Given the description of an element on the screen output the (x, y) to click on. 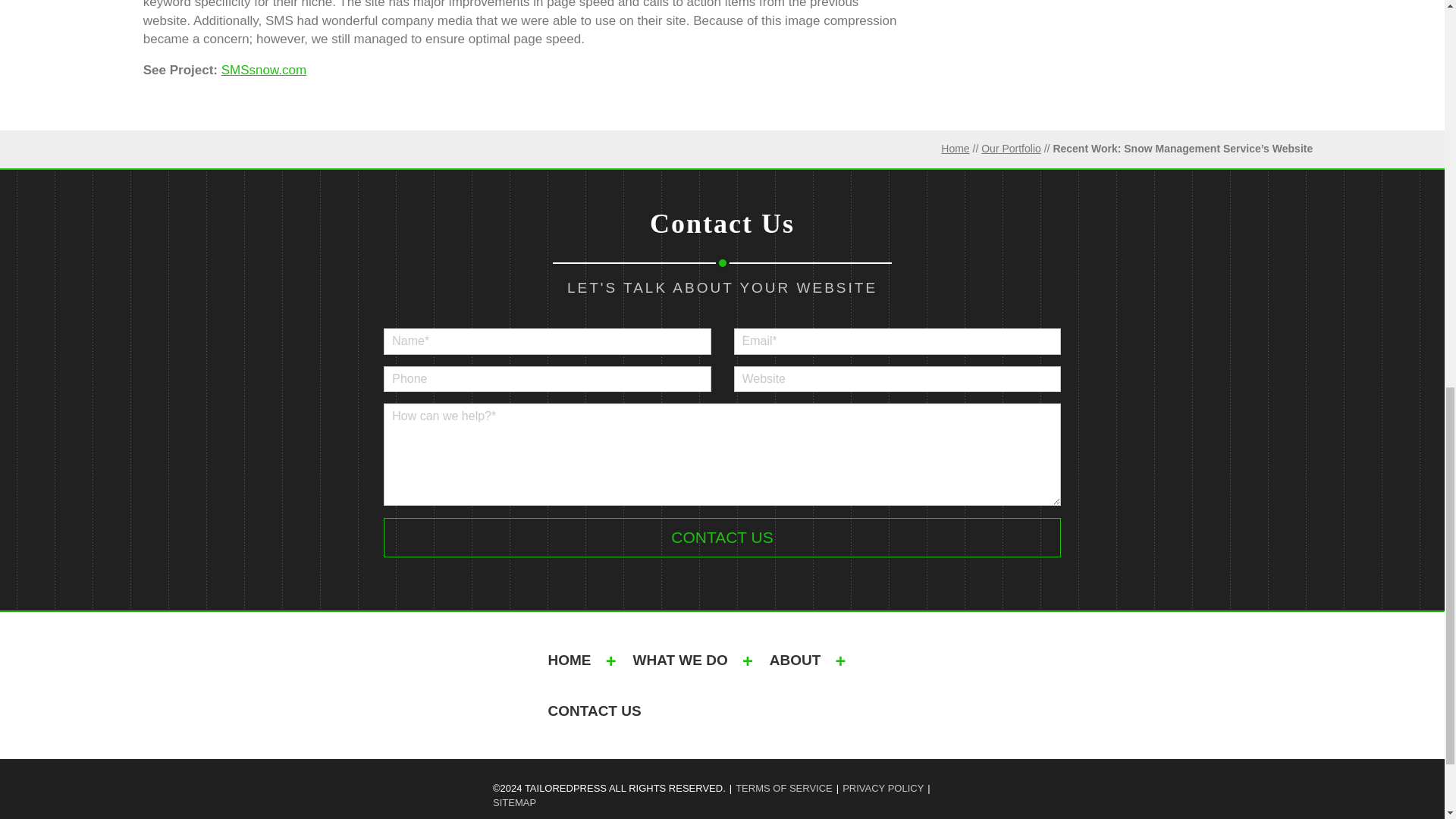
SITEMAP (514, 803)
TERMS OF SERVICE (783, 789)
CONTACT US (594, 710)
TailoredPress's sitemap (514, 803)
Our Portfolio (1011, 148)
Contact Us (722, 537)
PRIVACY POLICY (883, 789)
TailoredPress's Terms of Service (783, 789)
Home (954, 148)
TailoredPress's Privacy Policy (883, 789)
